Given the description of an element on the screen output the (x, y) to click on. 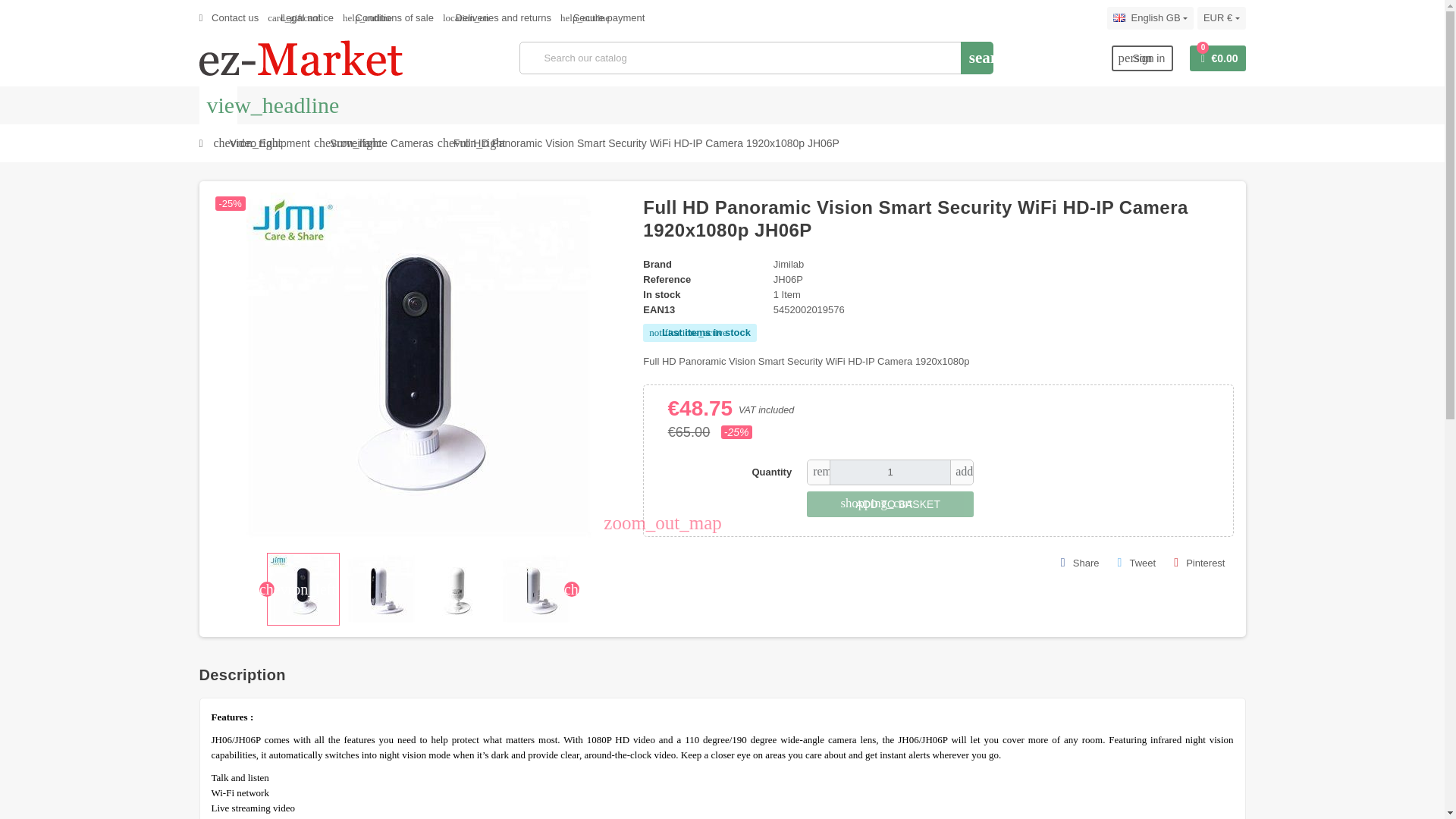
search (976, 57)
Contact us (228, 17)
Video Equipment (1142, 57)
  English GB (269, 142)
1 (1149, 17)
